Given the description of an element on the screen output the (x, y) to click on. 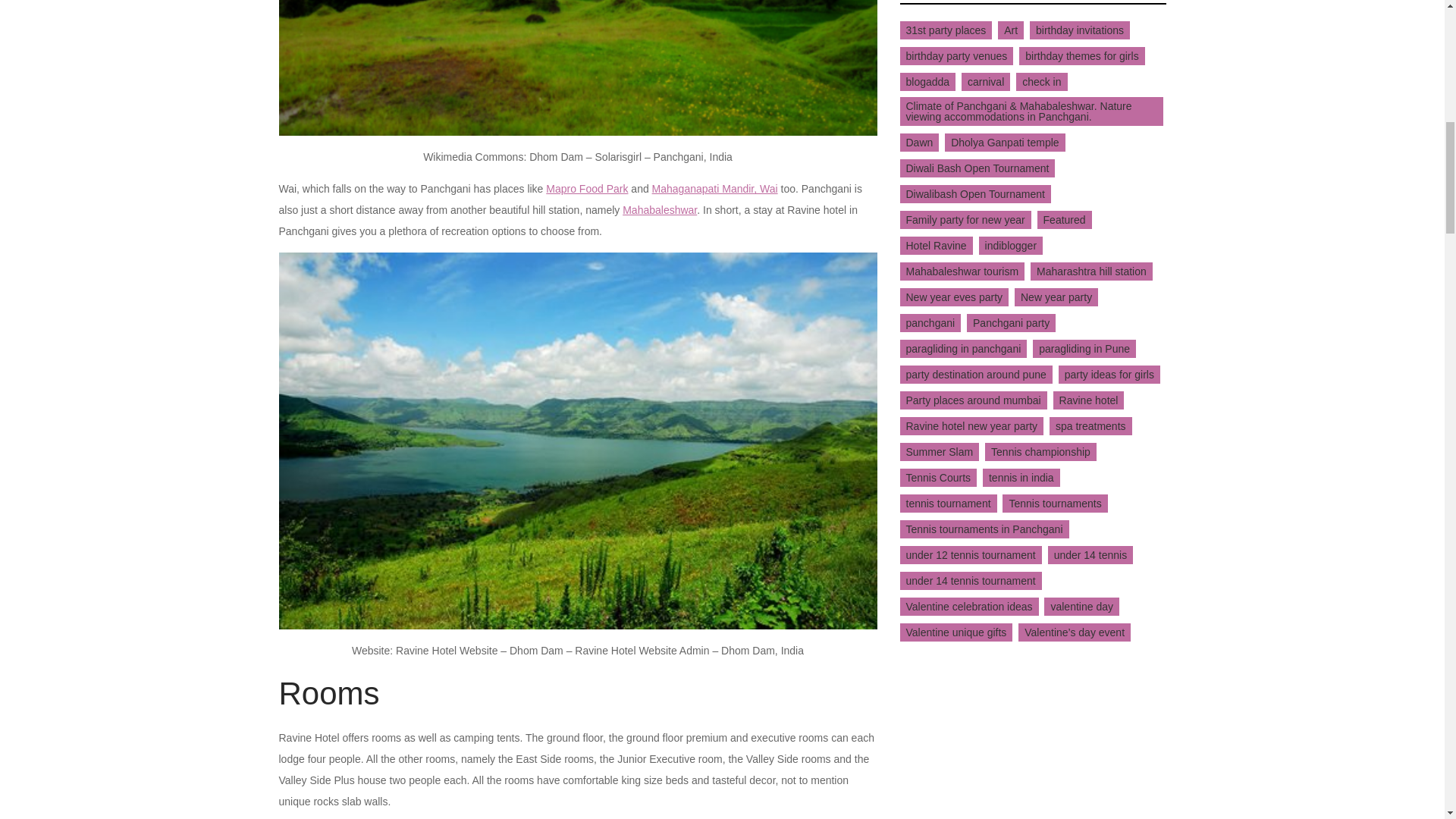
Mahaganapati Mandir, Wai (714, 188)
Mahabaleshwar (660, 209)
Mapro Food Park (586, 188)
